Given the description of an element on the screen output the (x, y) to click on. 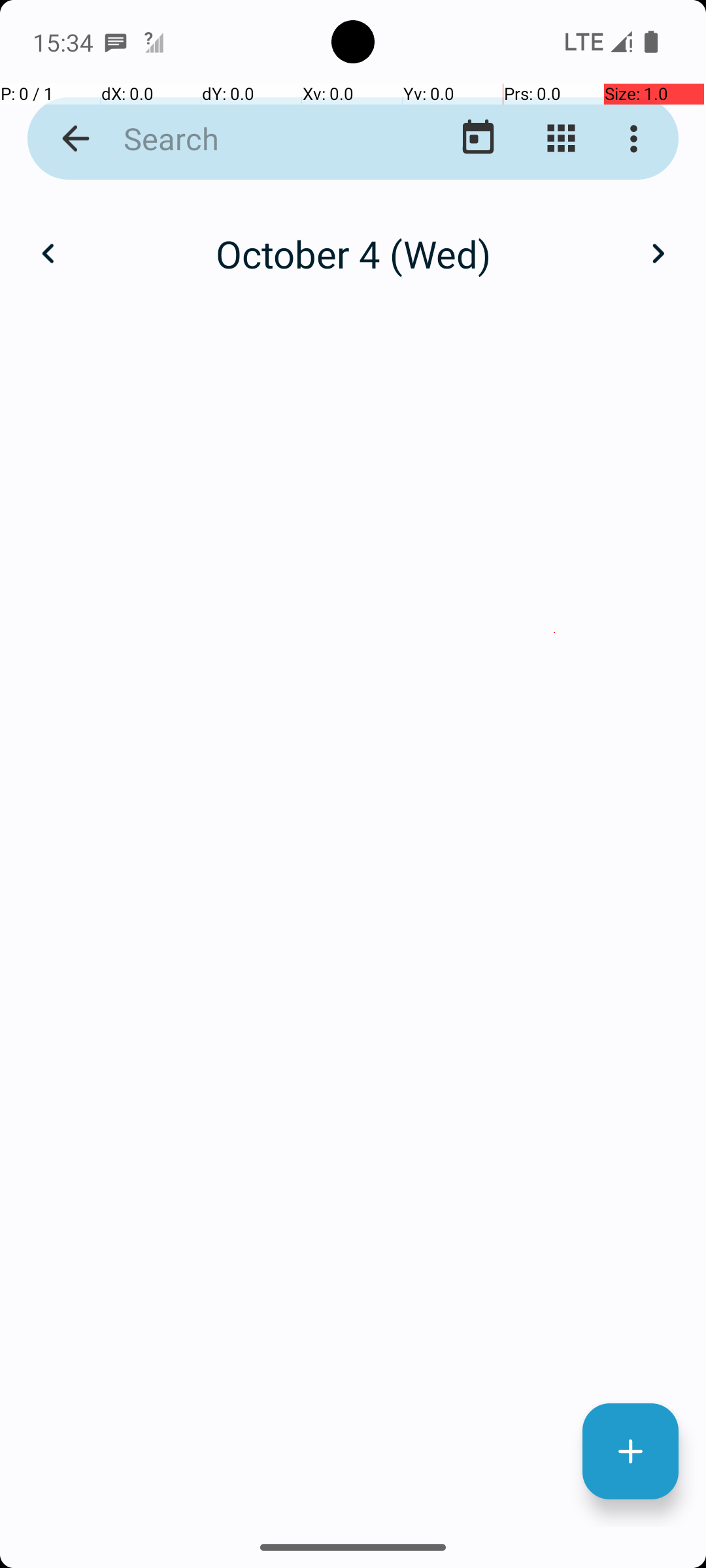
October 4 (Wed) Element type: android.widget.TextView (352, 253)
